Given the description of an element on the screen output the (x, y) to click on. 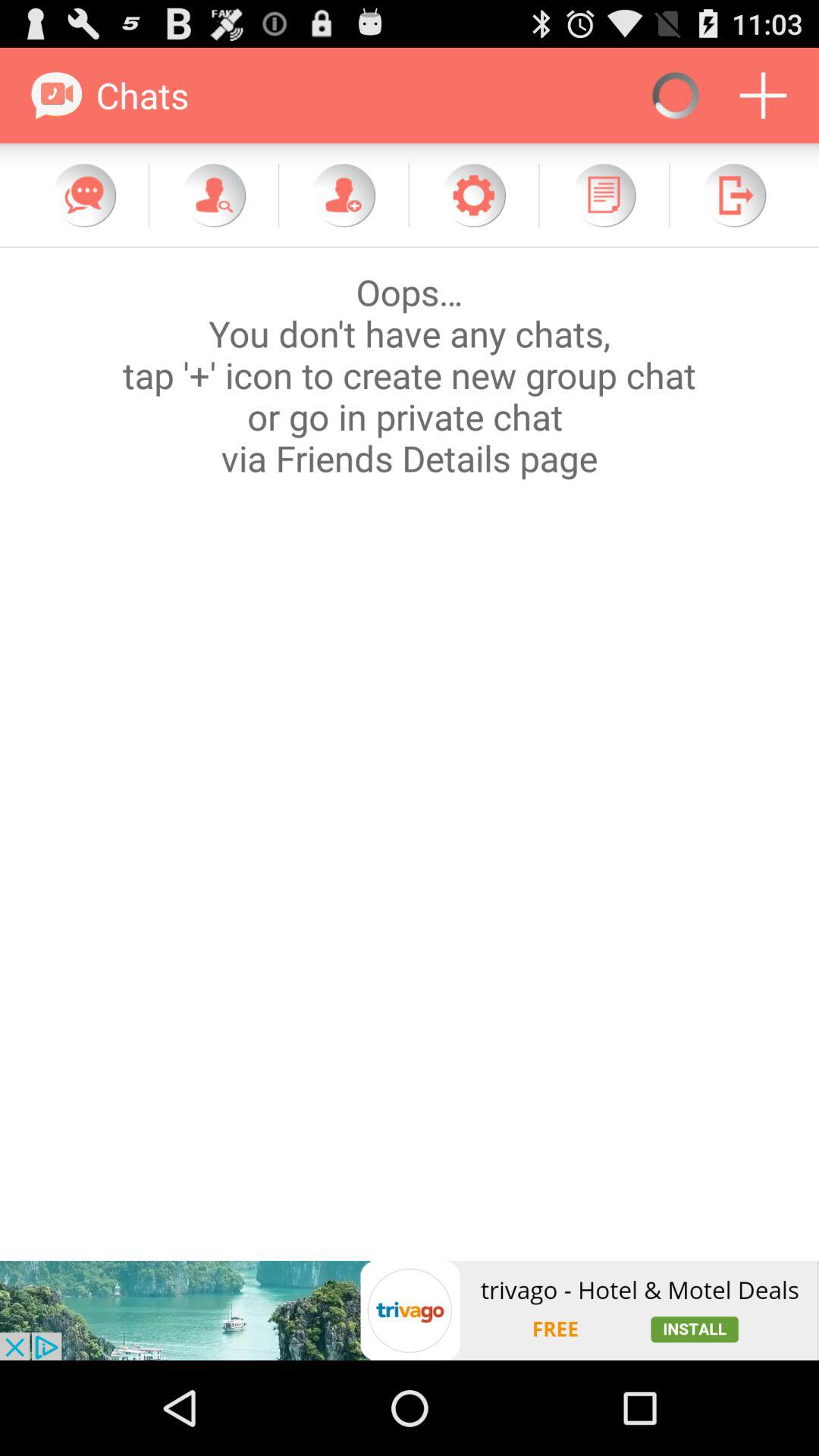
search for people (213, 194)
